Given the description of an element on the screen output the (x, y) to click on. 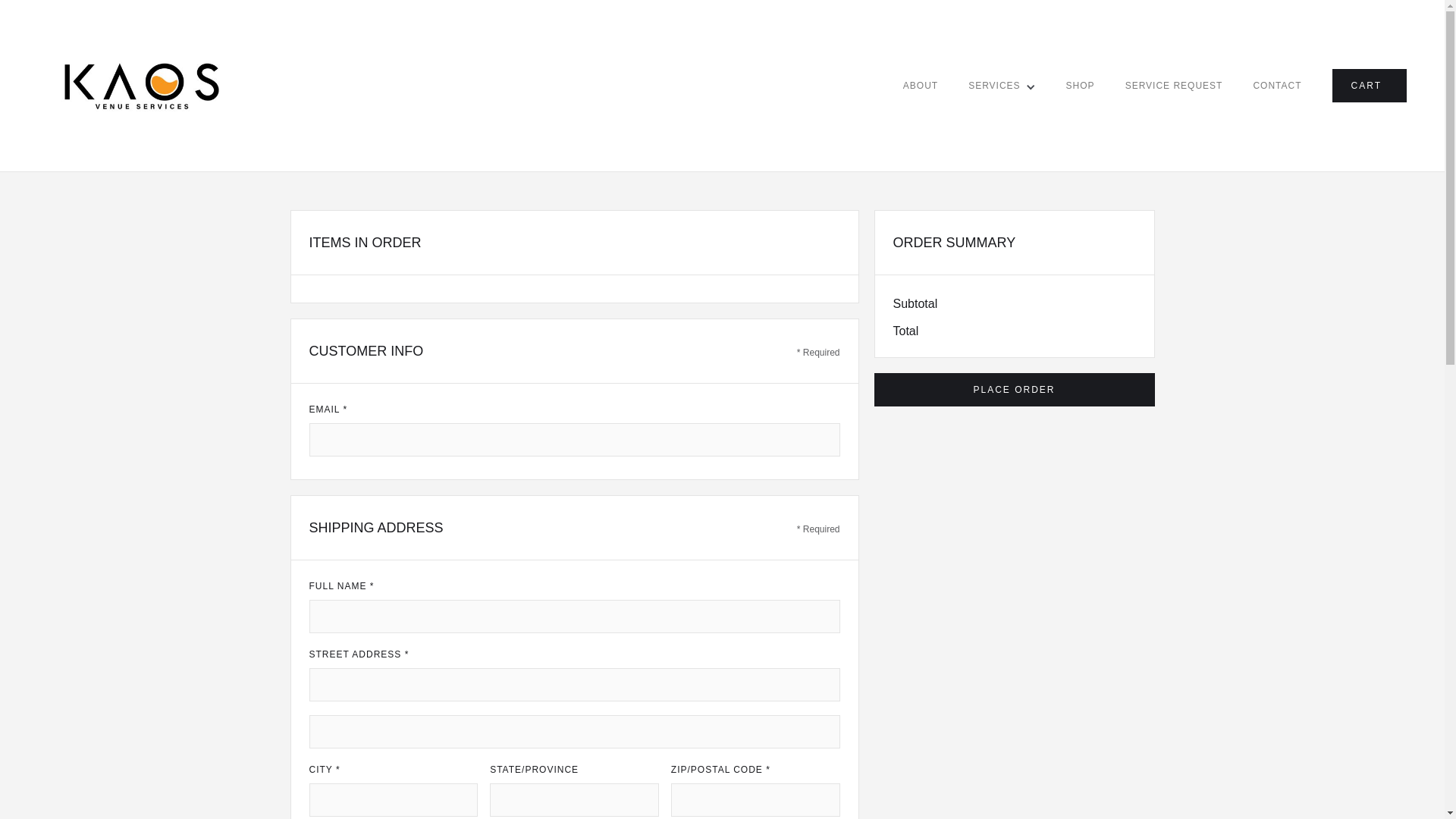
CONTACT Element type: text (1276, 85)
CART Element type: text (1369, 85)
PLACE ORDER Element type: text (1013, 389)
SHOP Element type: text (1080, 85)
SERVICE REQUEST Element type: text (1174, 85)
ABOUT Element type: text (920, 85)
